Given the description of an element on the screen output the (x, y) to click on. 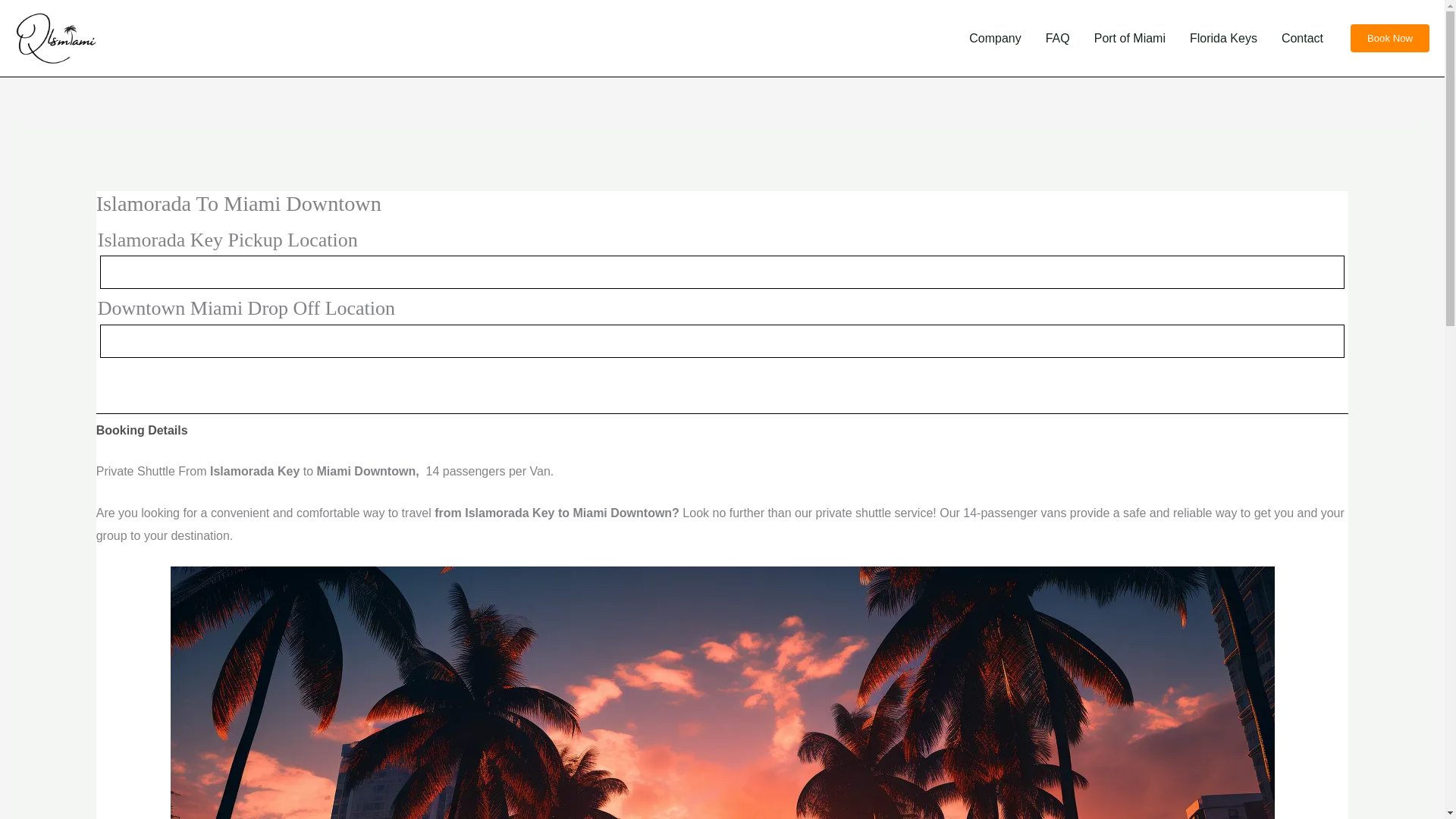
Company (994, 38)
Florida Keys (1223, 38)
Book Now (1390, 38)
Booking Details (141, 430)
Port of Miami (1129, 38)
Contact (1302, 38)
